Given the description of an element on the screen output the (x, y) to click on. 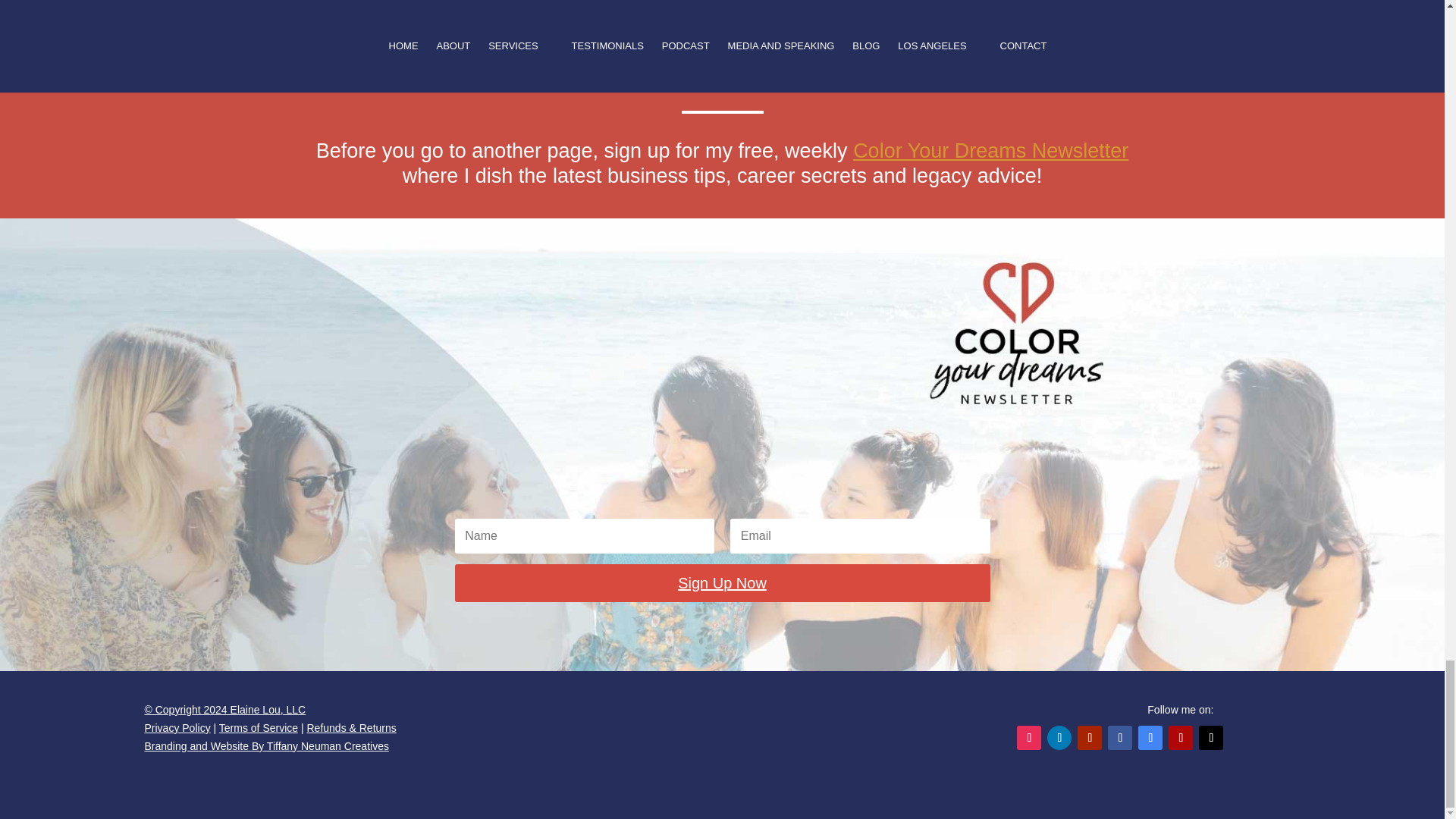
Follow on Yelp (1180, 737)
Follow on X (1210, 737)
Follow on Instagram (1028, 737)
Follow on Youtube (1089, 737)
Follow on LinkedIn (1058, 737)
Follow on Facebook (1120, 737)
Follow on Google (1149, 737)
